Given the description of an element on the screen output the (x, y) to click on. 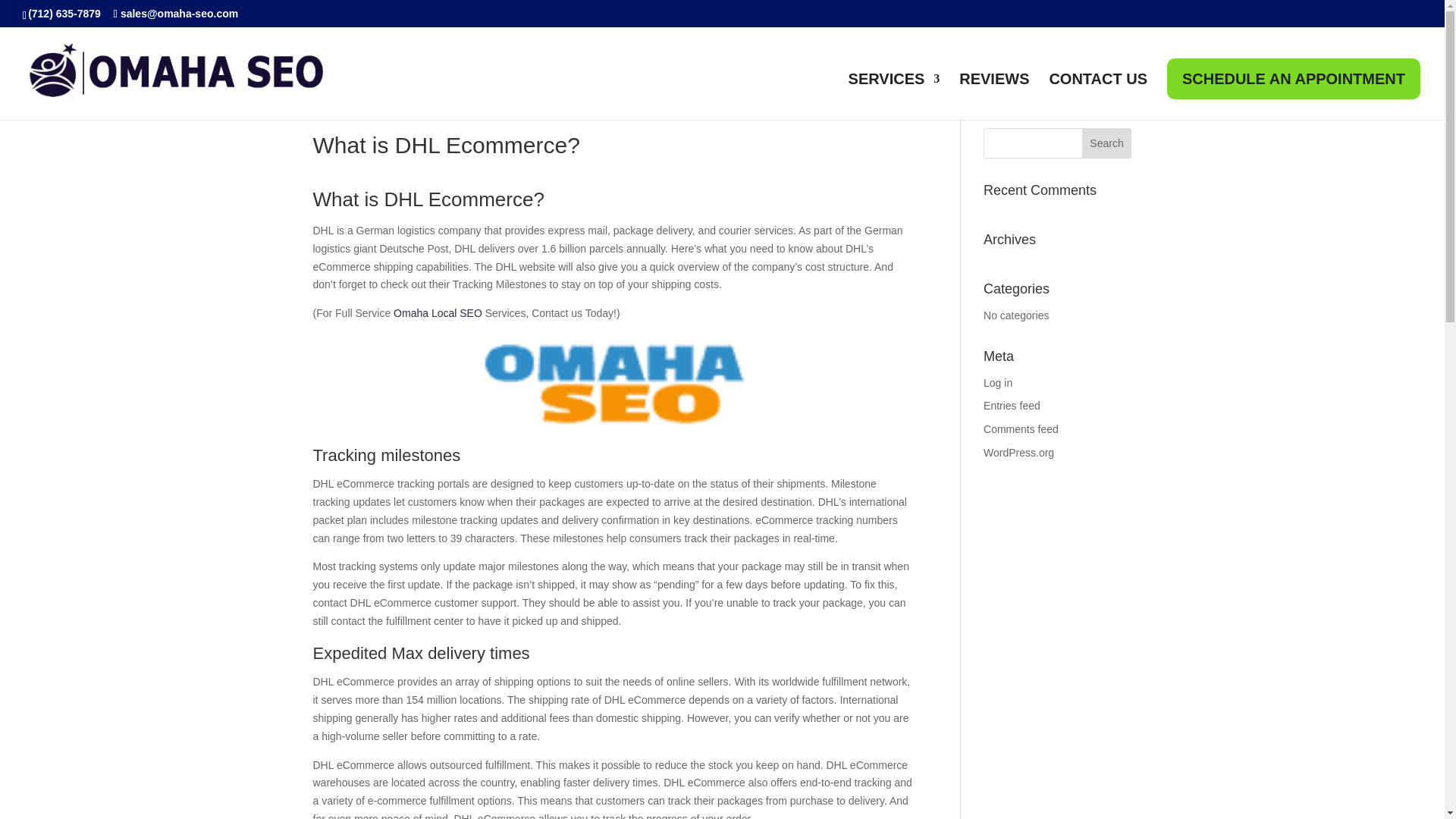
Search (1106, 142)
REVIEWS (994, 96)
Search (1106, 142)
SCHEDULE AN APPOINTMENT (1294, 78)
Entries feed (1012, 405)
CONTACT US (1097, 96)
Omaha Local SEO (435, 313)
WordPress.org (1019, 452)
Log in (997, 382)
SERVICES (894, 96)
Comments feed (1021, 428)
